Given the description of an element on the screen output the (x, y) to click on. 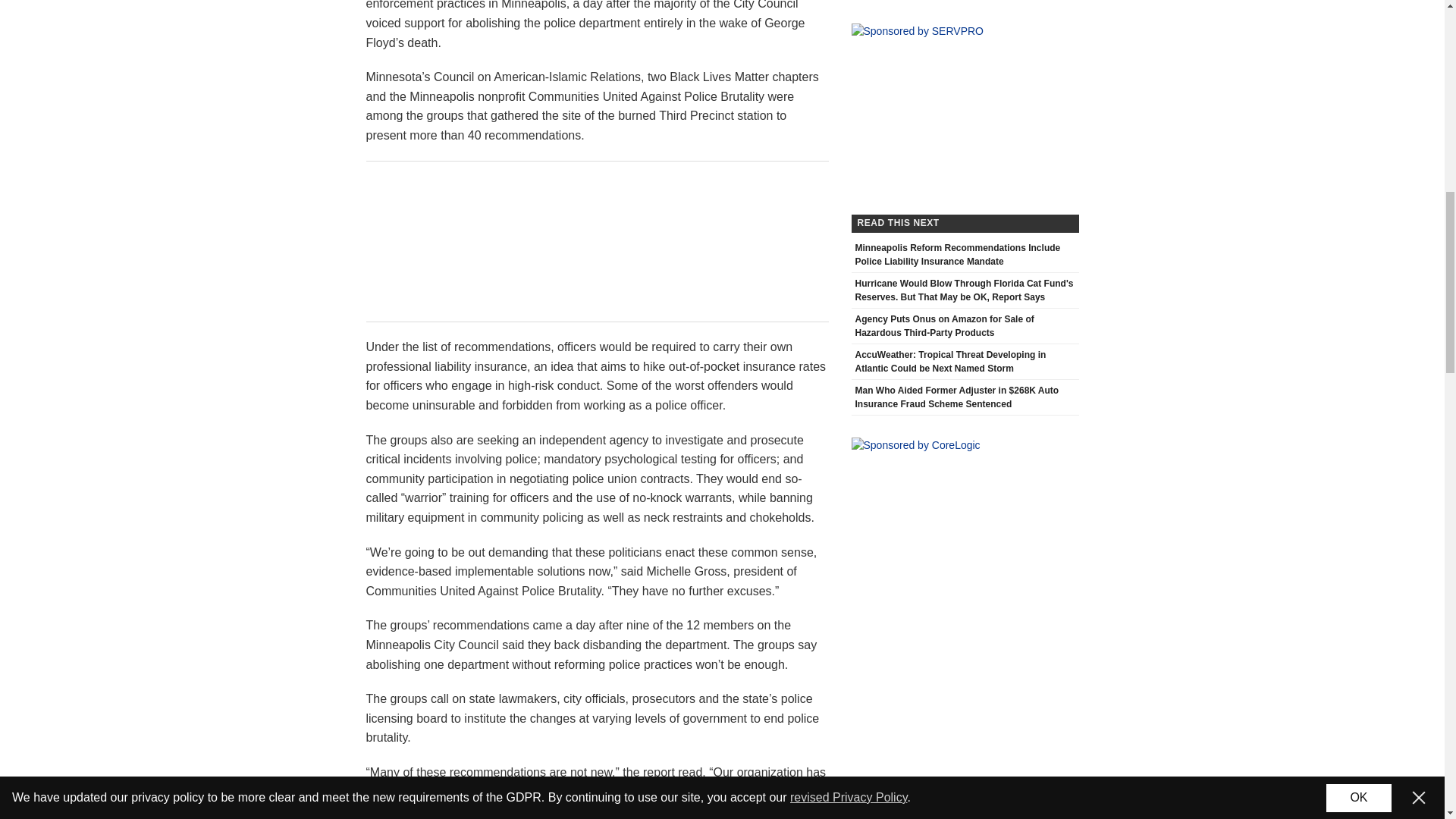
Sponsored by CoreLogic (914, 445)
